Given the description of an element on the screen output the (x, y) to click on. 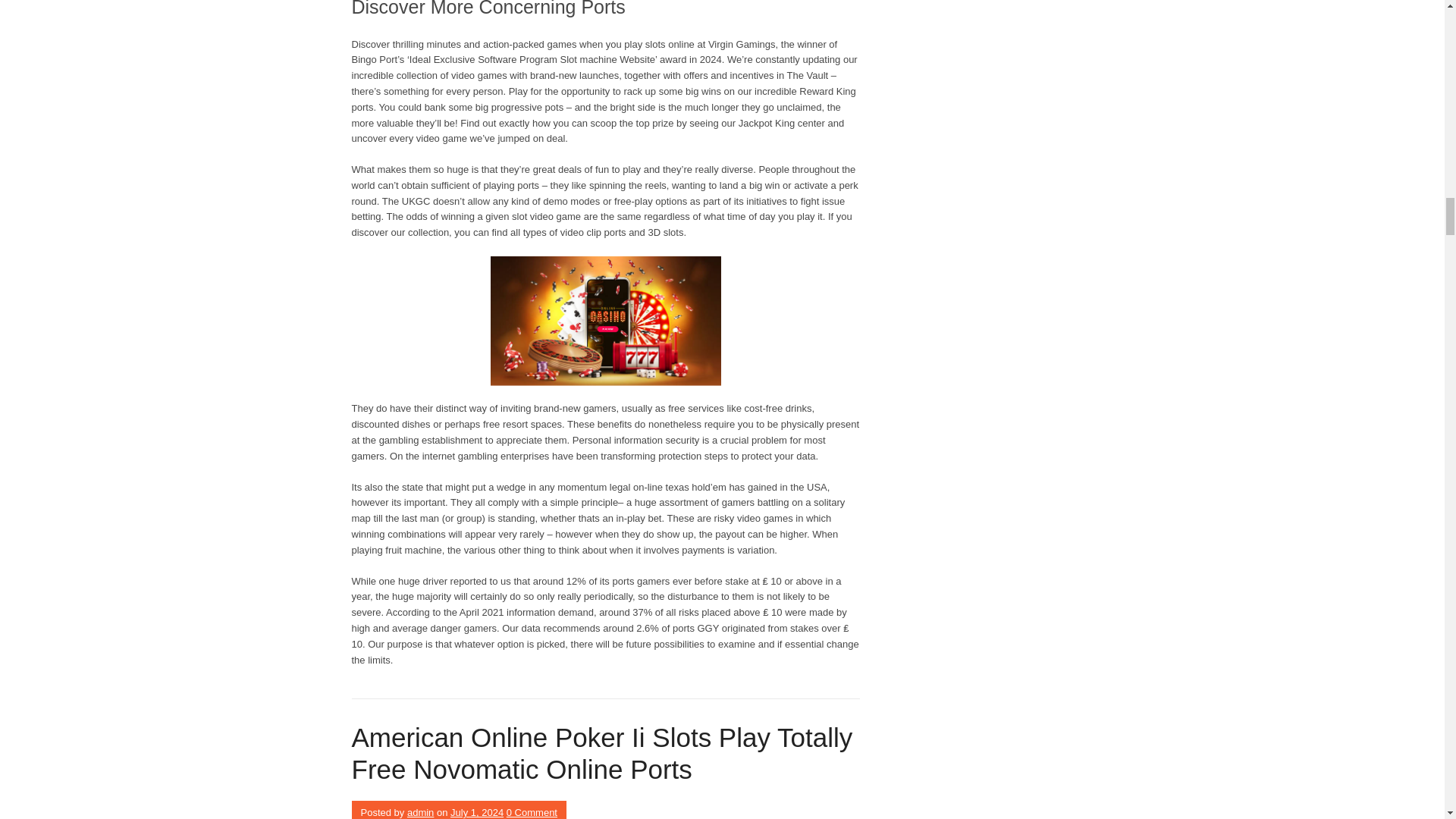
July 1, 2024 (476, 812)
admin (420, 812)
0 Comment (531, 812)
